Given the description of an element on the screen output the (x, y) to click on. 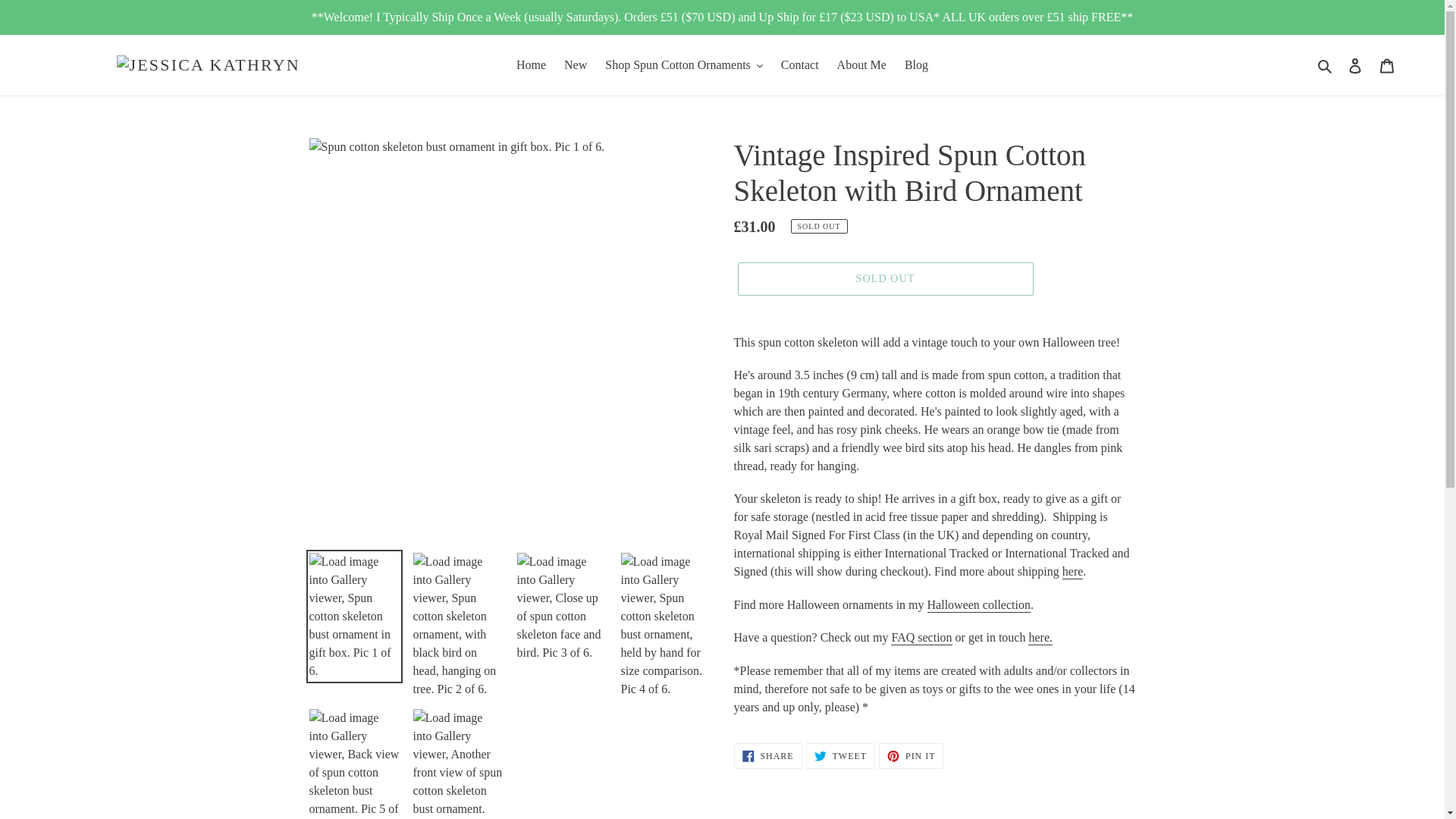
Contact (800, 65)
spun cotton Halloween ornaments (978, 605)
Blog (916, 65)
spun cotton ornaments shipping (1072, 572)
Cart (1387, 64)
Search (1326, 65)
New (575, 65)
Shop Spun Cotton Ornaments (683, 65)
Home (530, 65)
About Me (861, 65)
